Given the description of an element on the screen output the (x, y) to click on. 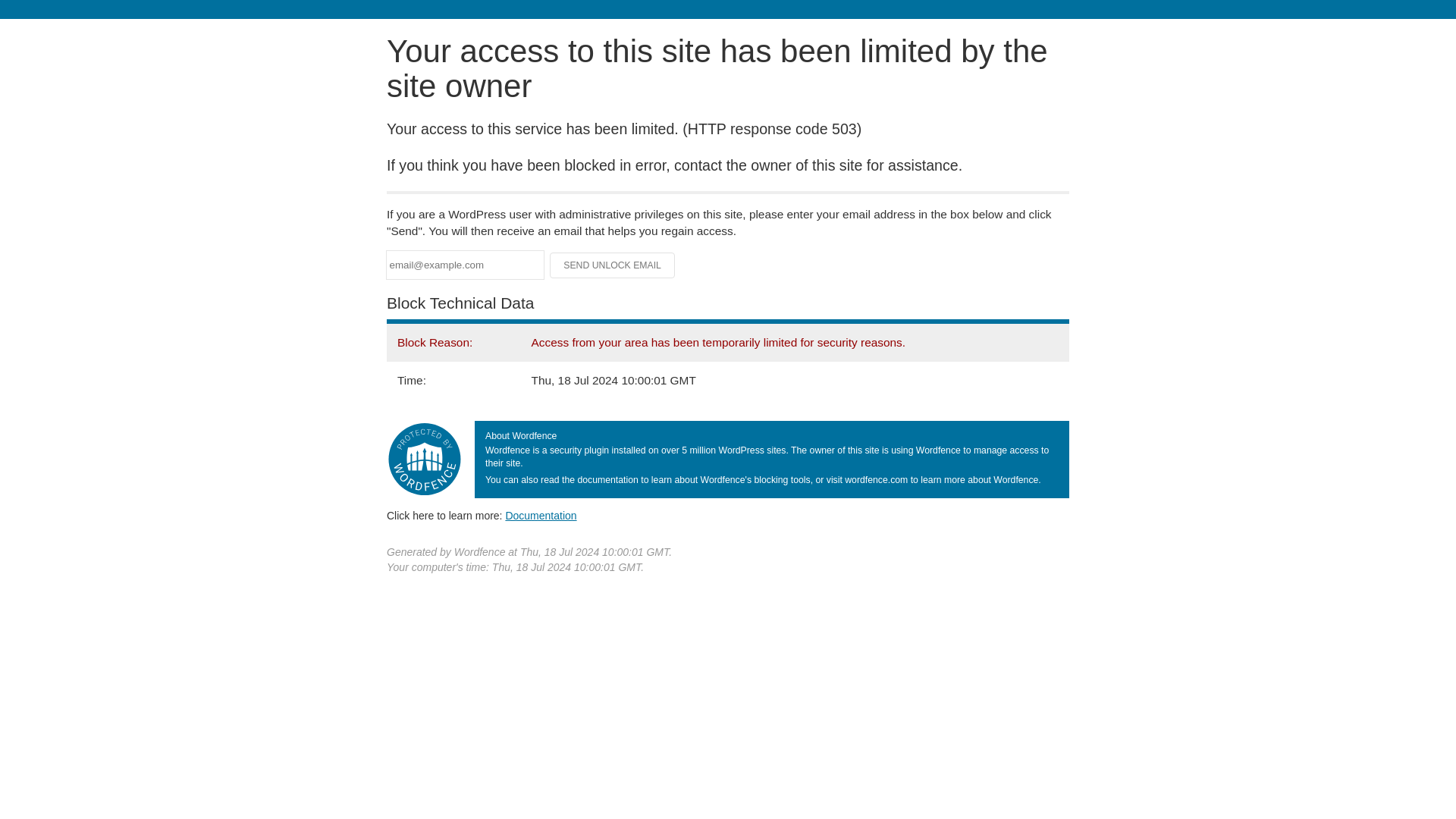
Send Unlock Email (612, 265)
Send Unlock Email (612, 265)
Documentation (540, 515)
